Given the description of an element on the screen output the (x, y) to click on. 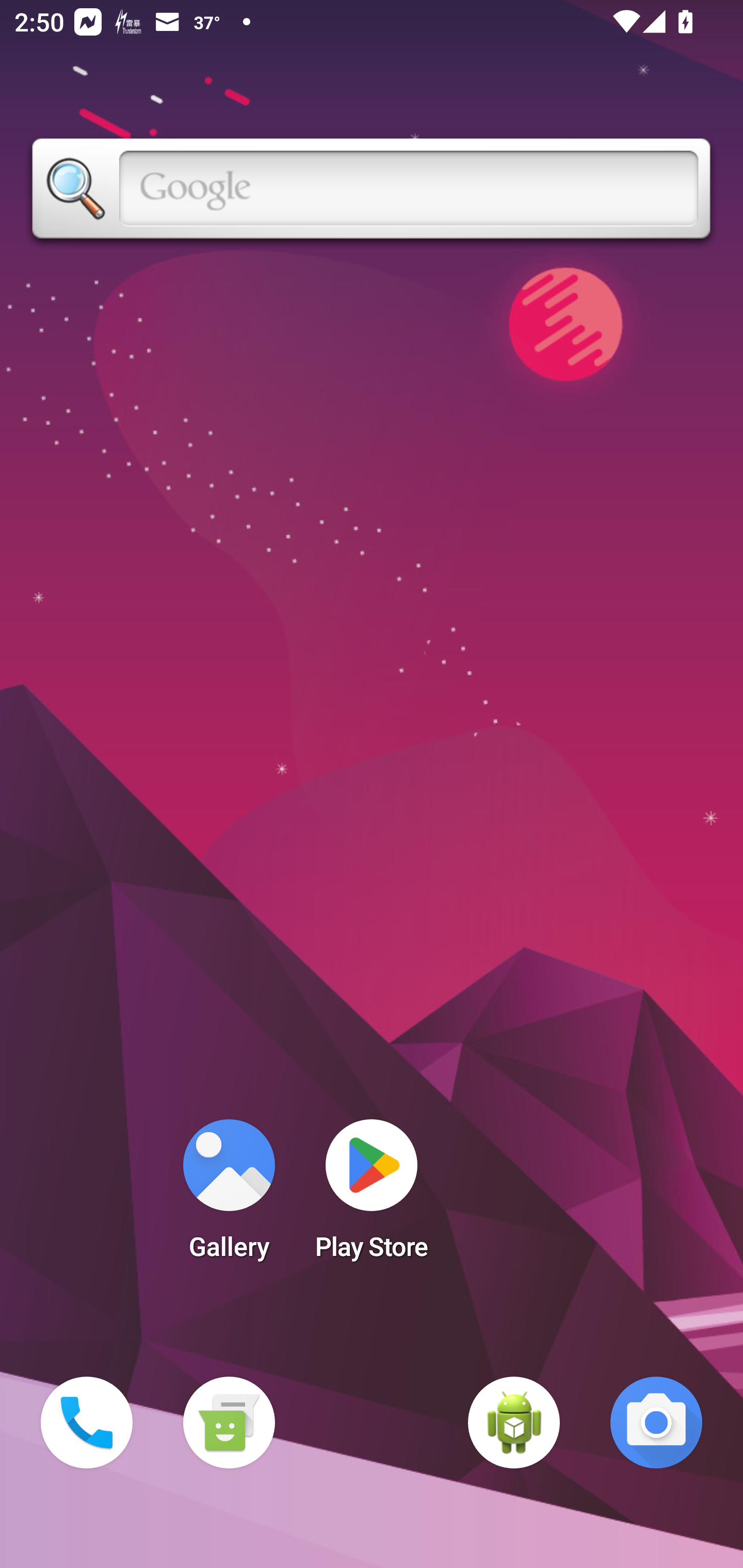
Gallery (228, 1195)
Play Store (371, 1195)
Phone (86, 1422)
Messaging (228, 1422)
WebView Browser Tester (513, 1422)
Camera (656, 1422)
